Given the description of an element on the screen output the (x, y) to click on. 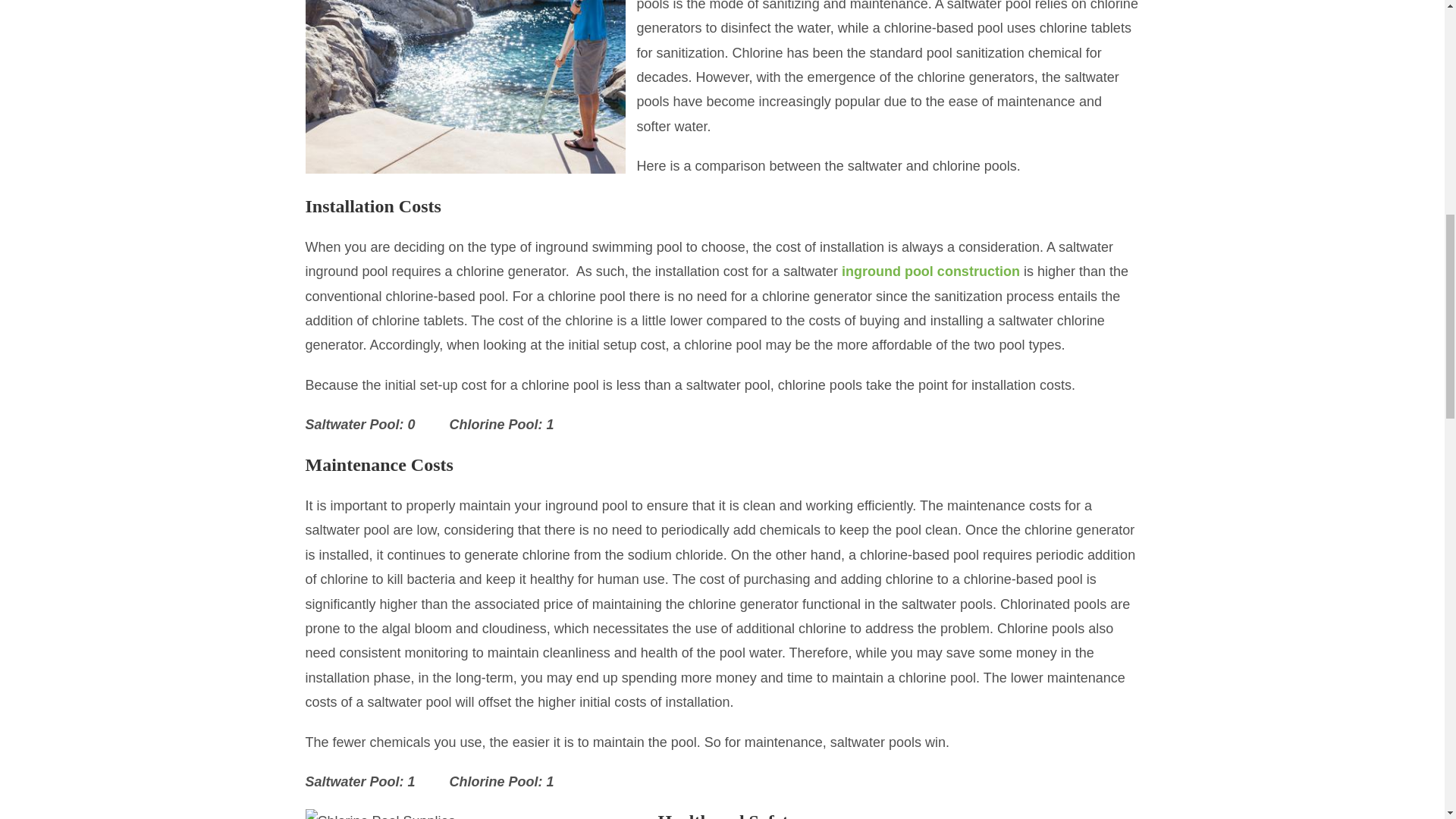
inground pool construction (930, 271)
